Given the description of an element on the screen output the (x, y) to click on. 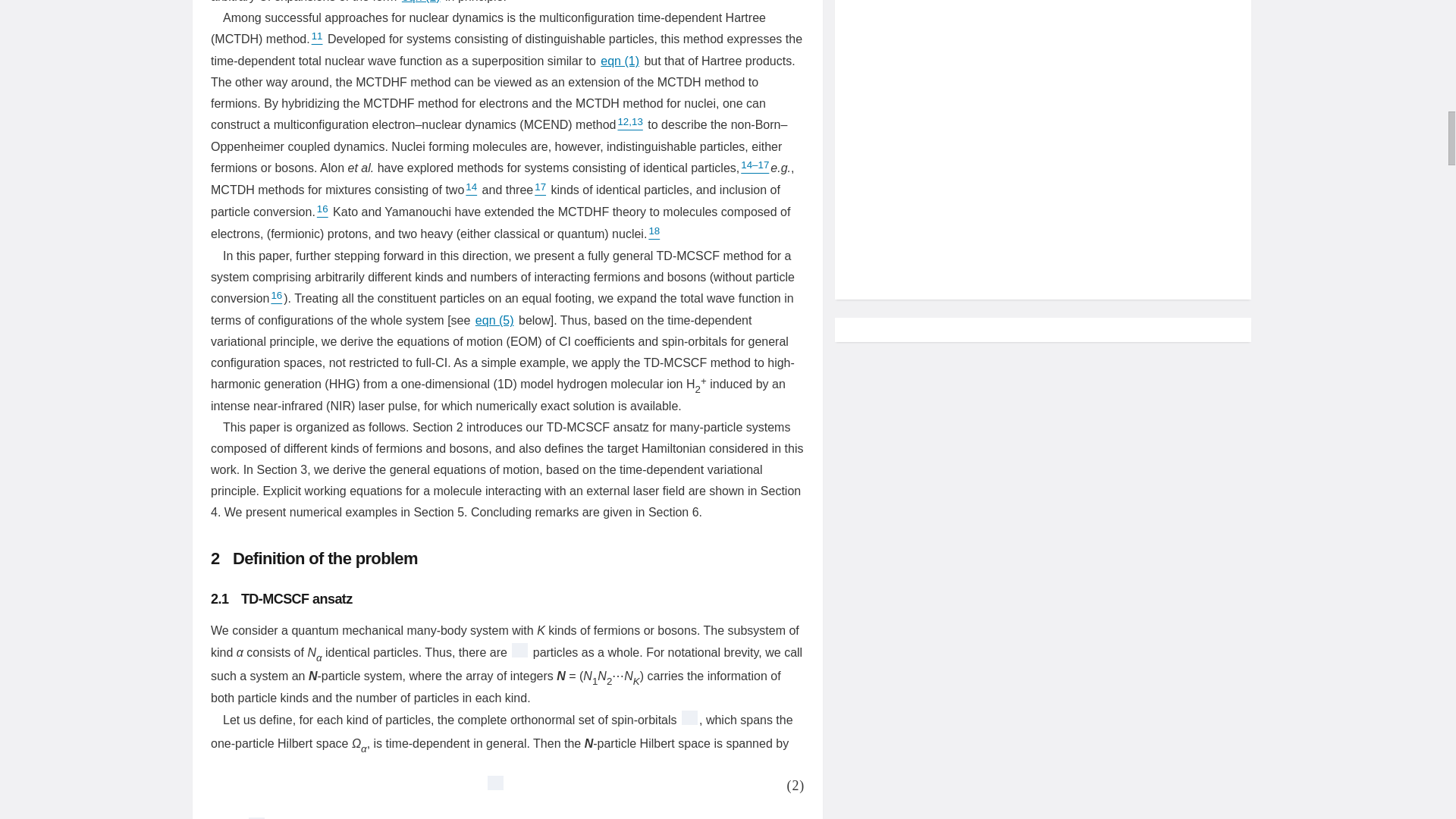
Select to open image in new window (256, 817)
Select to open image in new window (489, 785)
11 (317, 38)
